Given the description of an element on the screen output the (x, y) to click on. 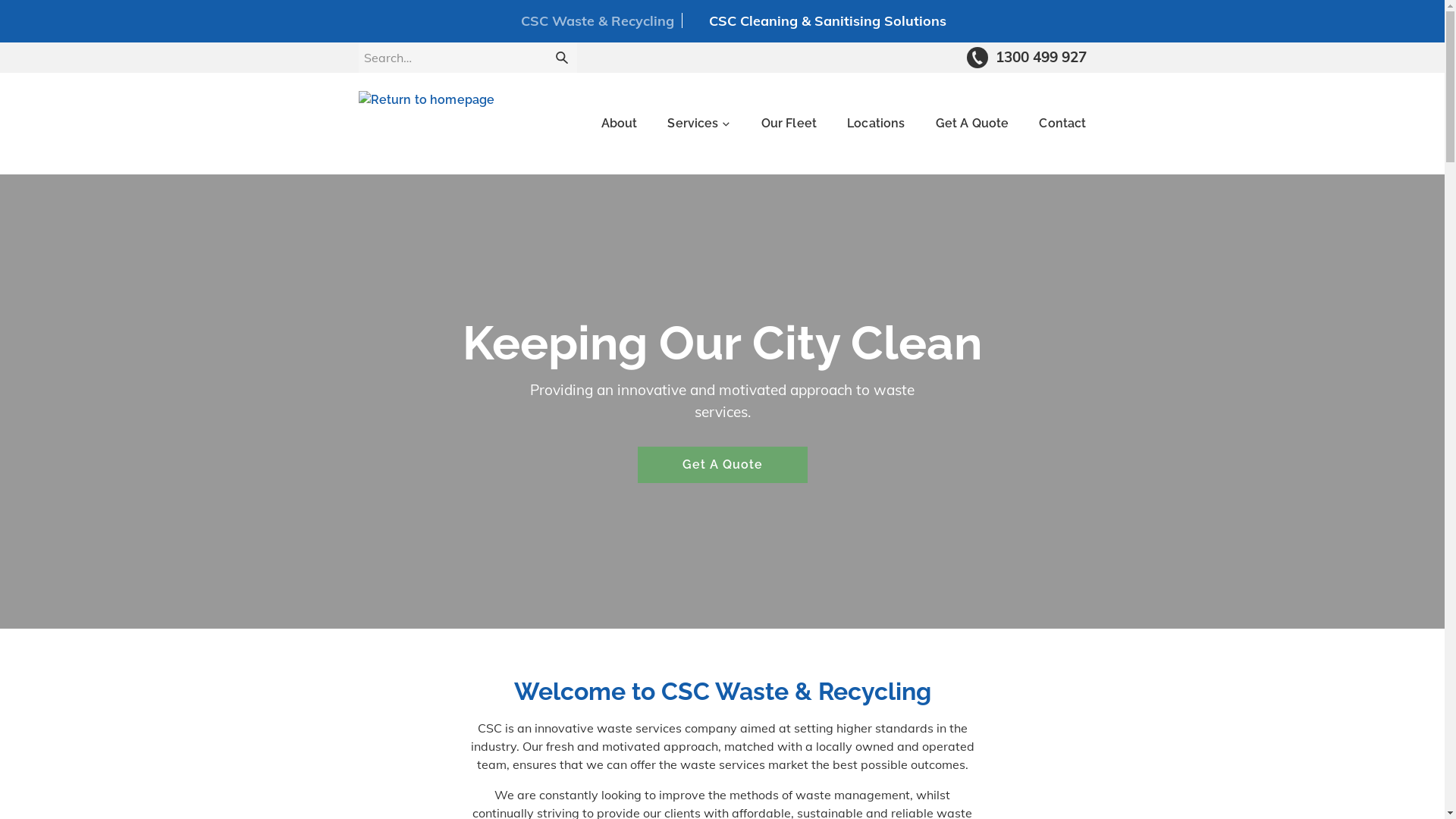
About Element type: text (619, 123)
Get A Quote Element type: text (972, 123)
Search Element type: hover (561, 57)
Locations Element type: text (875, 123)
Services Element type: text (698, 123)
Get A Quote Element type: text (721, 464)
CSC Cleaning & Sanitising Solutions Element type: text (818, 20)
Contact Element type: text (1061, 123)
1300 499 927 Element type: text (1026, 57)
CSC Waste & Recycling Element type: text (586, 20)
Our Fleet Element type: text (788, 123)
